Given the description of an element on the screen output the (x, y) to click on. 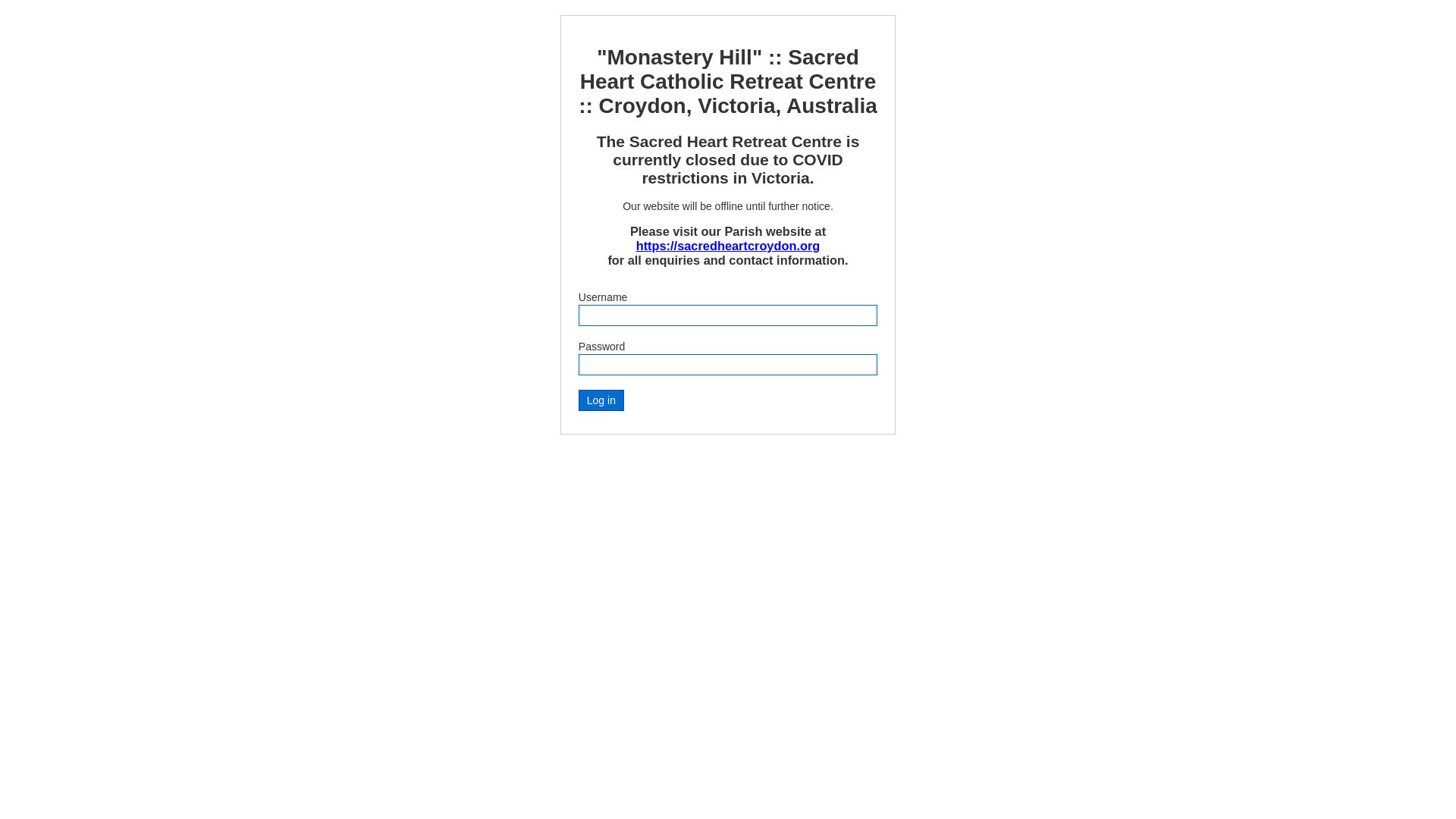
https://sacredheartcroydon.org Element type: text (728, 245)
Log in Element type: text (601, 400)
